Given the description of an element on the screen output the (x, y) to click on. 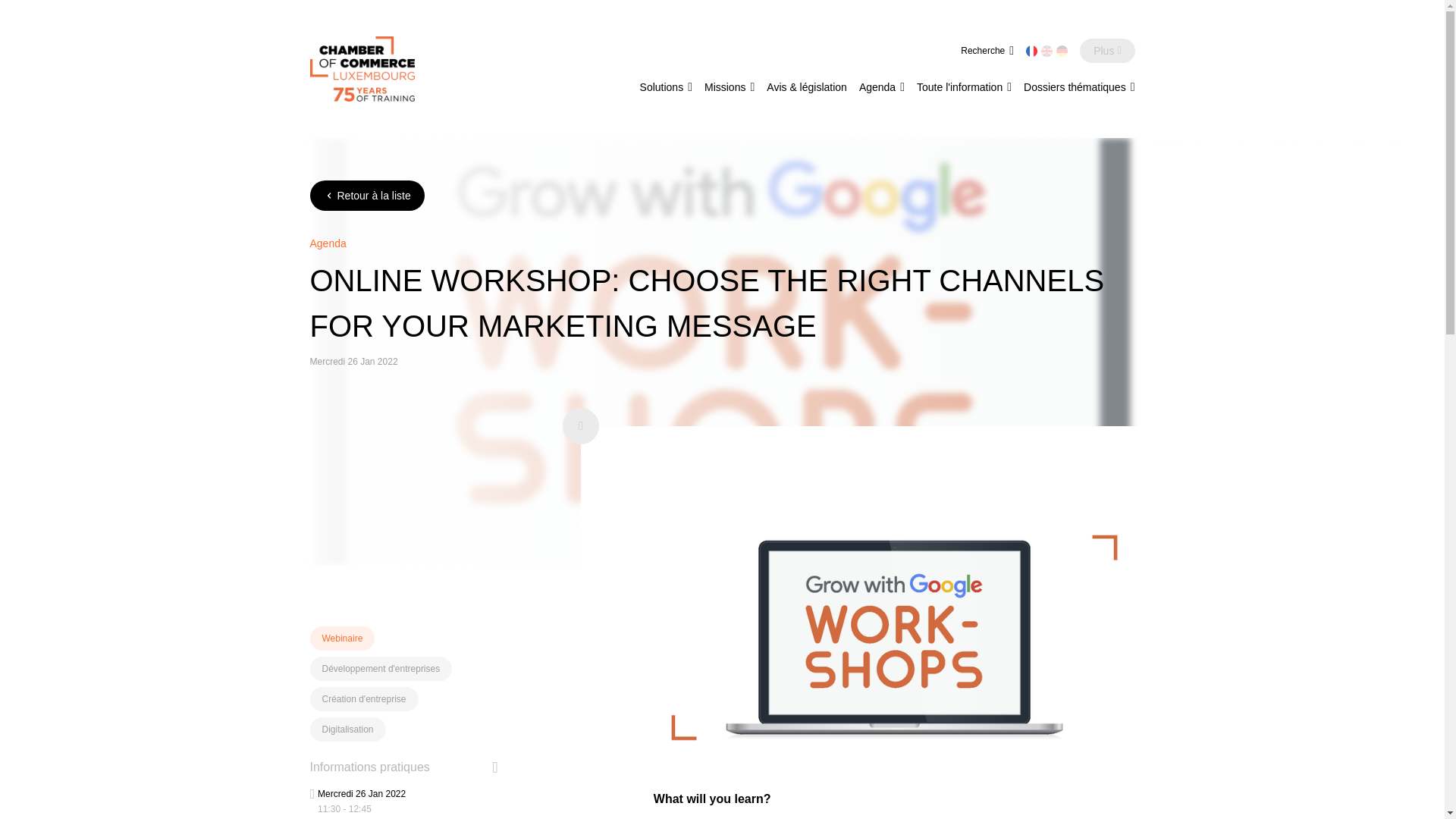
Recherche (986, 50)
Deutsch (1062, 50)
English (1046, 50)
Plus (1107, 50)
